Given the description of an element on the screen output the (x, y) to click on. 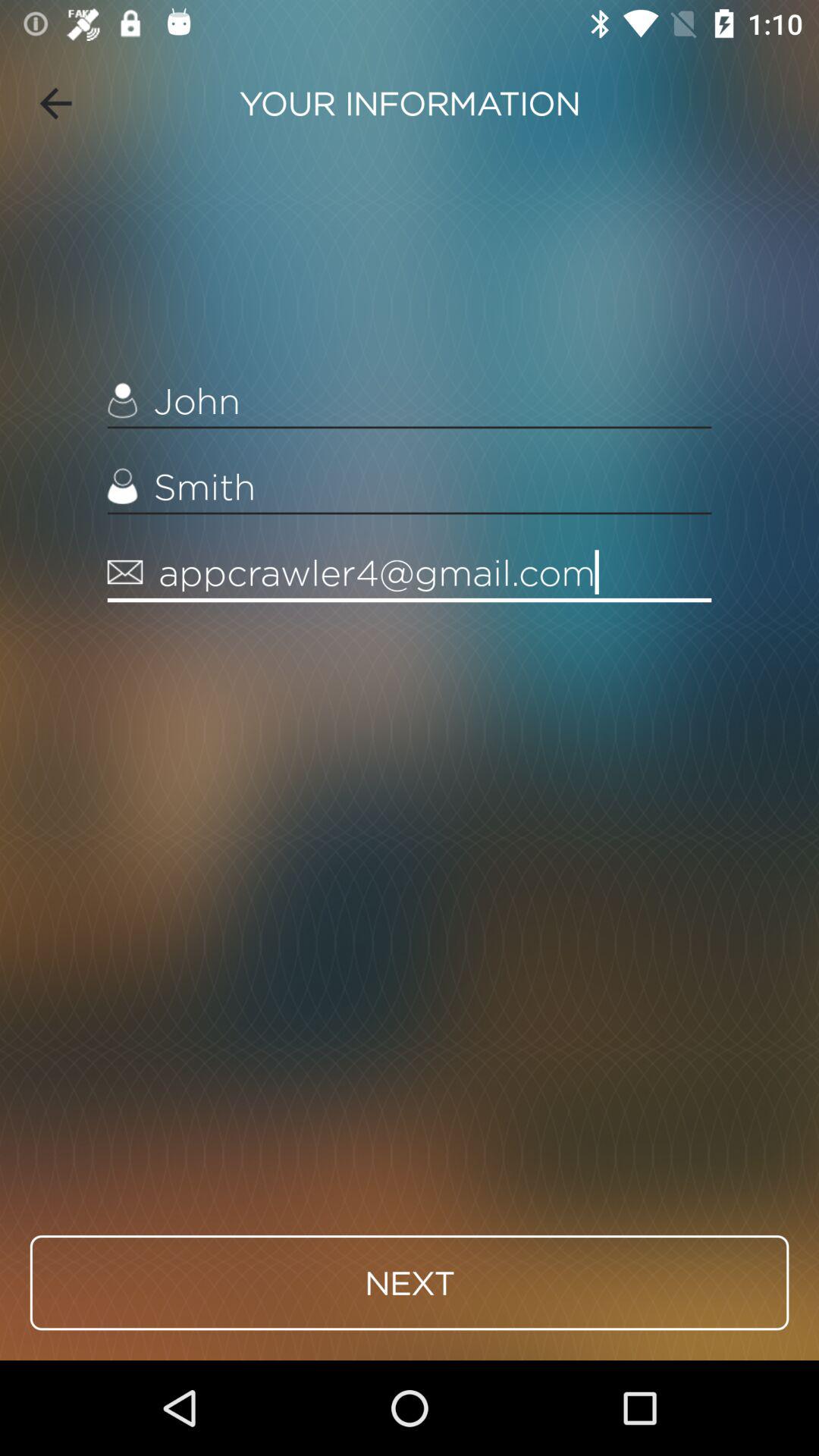
flip until the smith (409, 487)
